Given the description of an element on the screen output the (x, y) to click on. 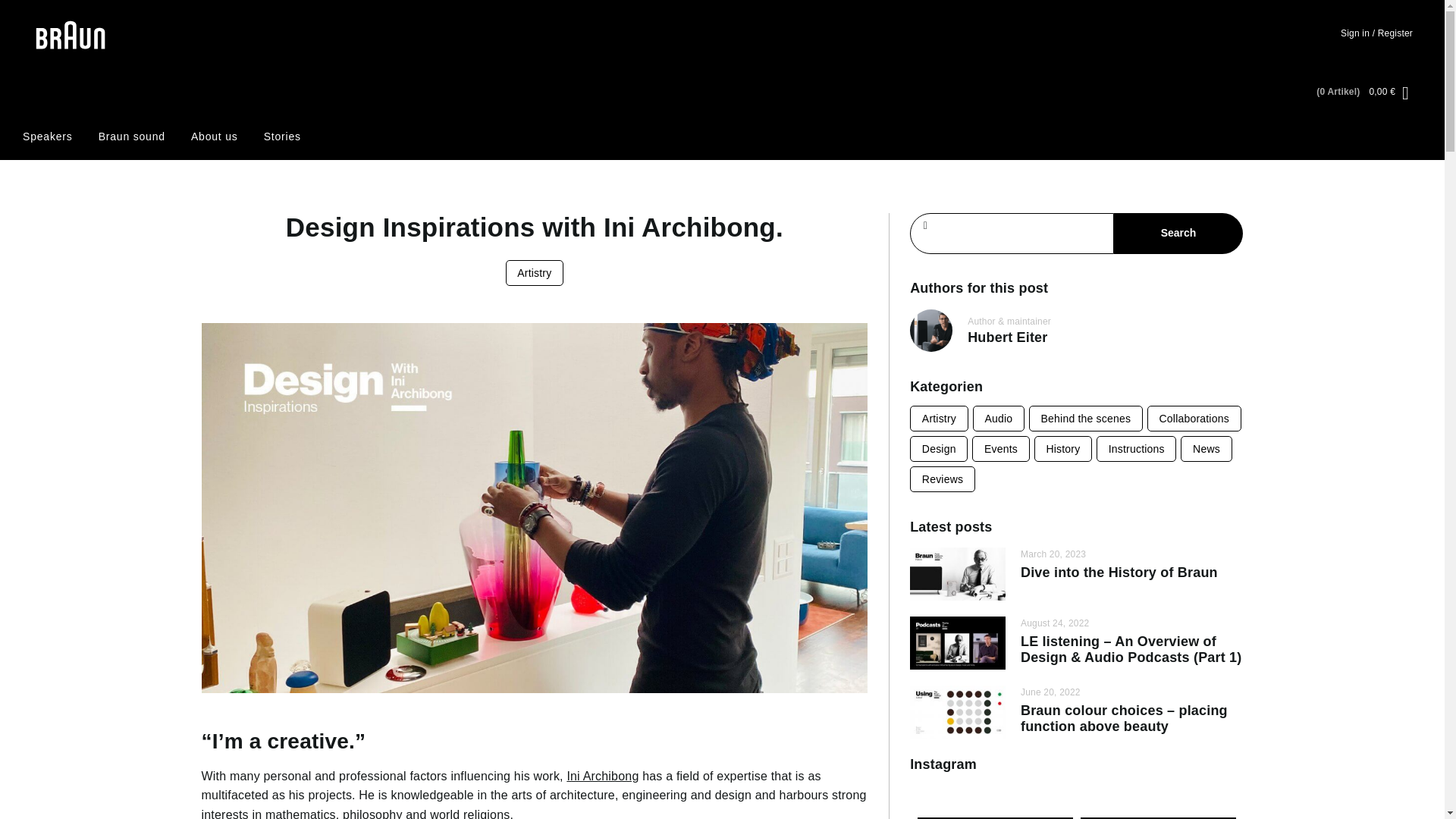
Artistry (534, 272)
Braun sound (131, 135)
Search (1178, 232)
Artistry (939, 418)
Braun sound (131, 135)
Speakers (47, 135)
About us (213, 135)
Ini Archibong (602, 775)
Speakers (47, 135)
Stories (282, 135)
